Given the description of an element on the screen output the (x, y) to click on. 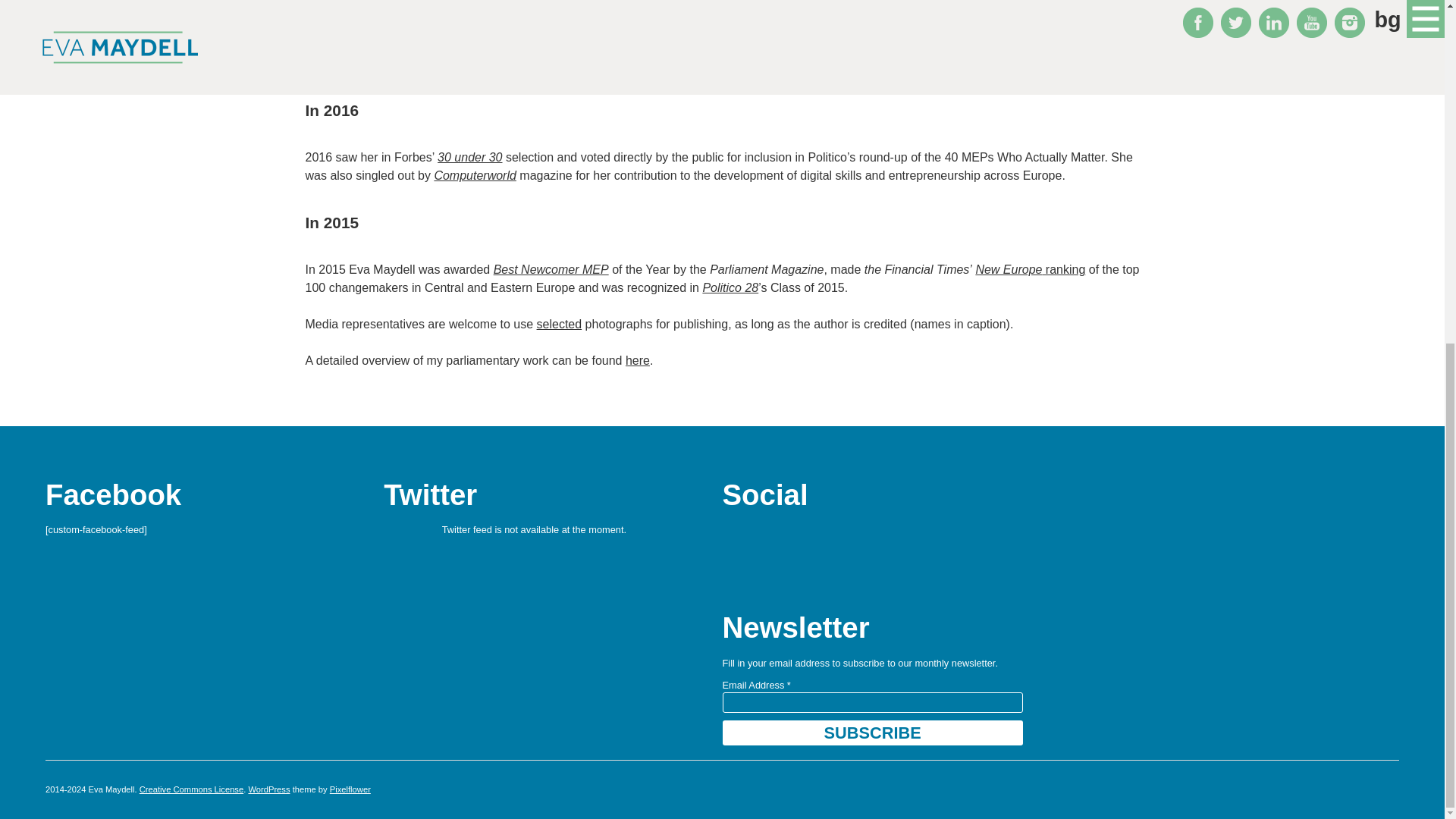
Subscribe (872, 732)
Best Newcomer MEP (550, 269)
YouTube (859, 537)
selected (559, 323)
here (637, 359)
Politico 28 (729, 287)
Twitter (777, 537)
Instagram (900, 537)
Subscribe (872, 732)
Facebook (737, 537)
30 under 30 (470, 156)
Computerworld (474, 174)
New Europe ranking (1029, 269)
Twitter (430, 494)
LinkedIn (818, 537)
